Given the description of an element on the screen output the (x, y) to click on. 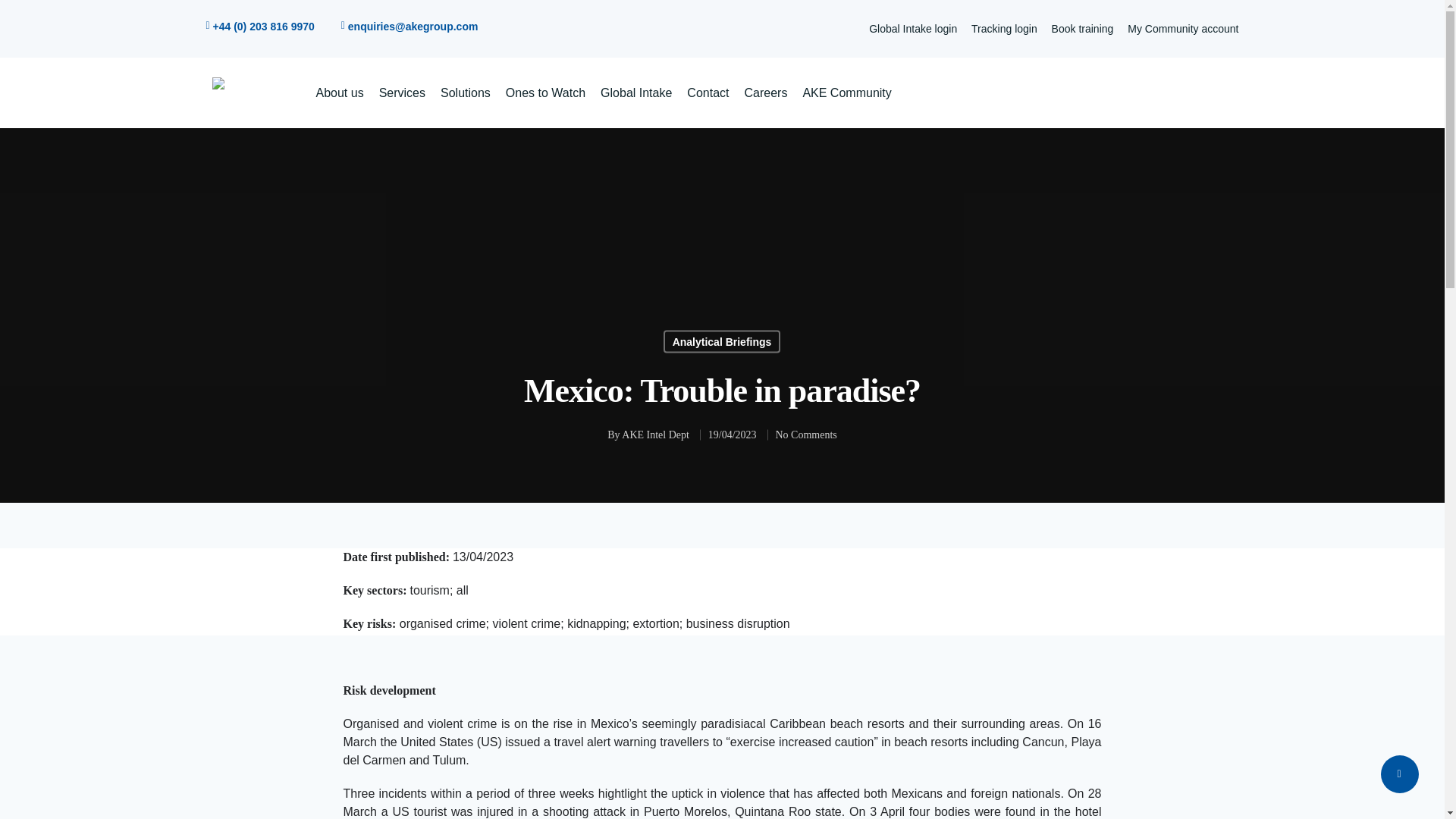
Book training (1082, 28)
Careers (765, 92)
Posts by AKE Intel Dept (654, 434)
AKE Intel Dept (654, 434)
Solutions (465, 92)
Ones to Watch (545, 92)
Analytical Briefings (721, 341)
Contact (708, 92)
Global Intake (635, 92)
Global Intake login (912, 28)
AKE Community (846, 92)
About us (338, 92)
Tracking login (1003, 28)
Services (401, 92)
My Community account (1182, 28)
